Given the description of an element on the screen output the (x, y) to click on. 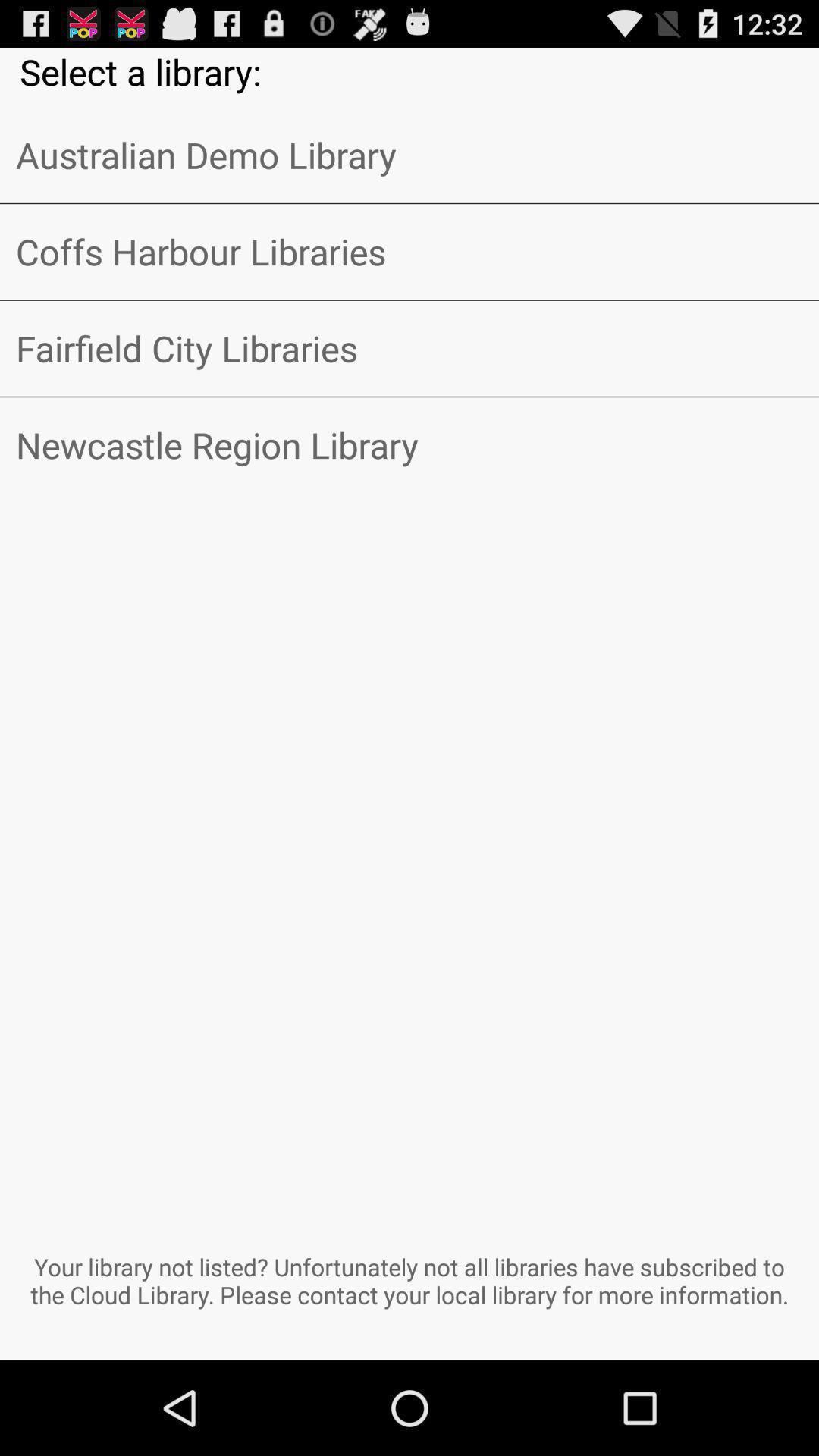
turn on the app above your library not item (409, 445)
